Given the description of an element on the screen output the (x, y) to click on. 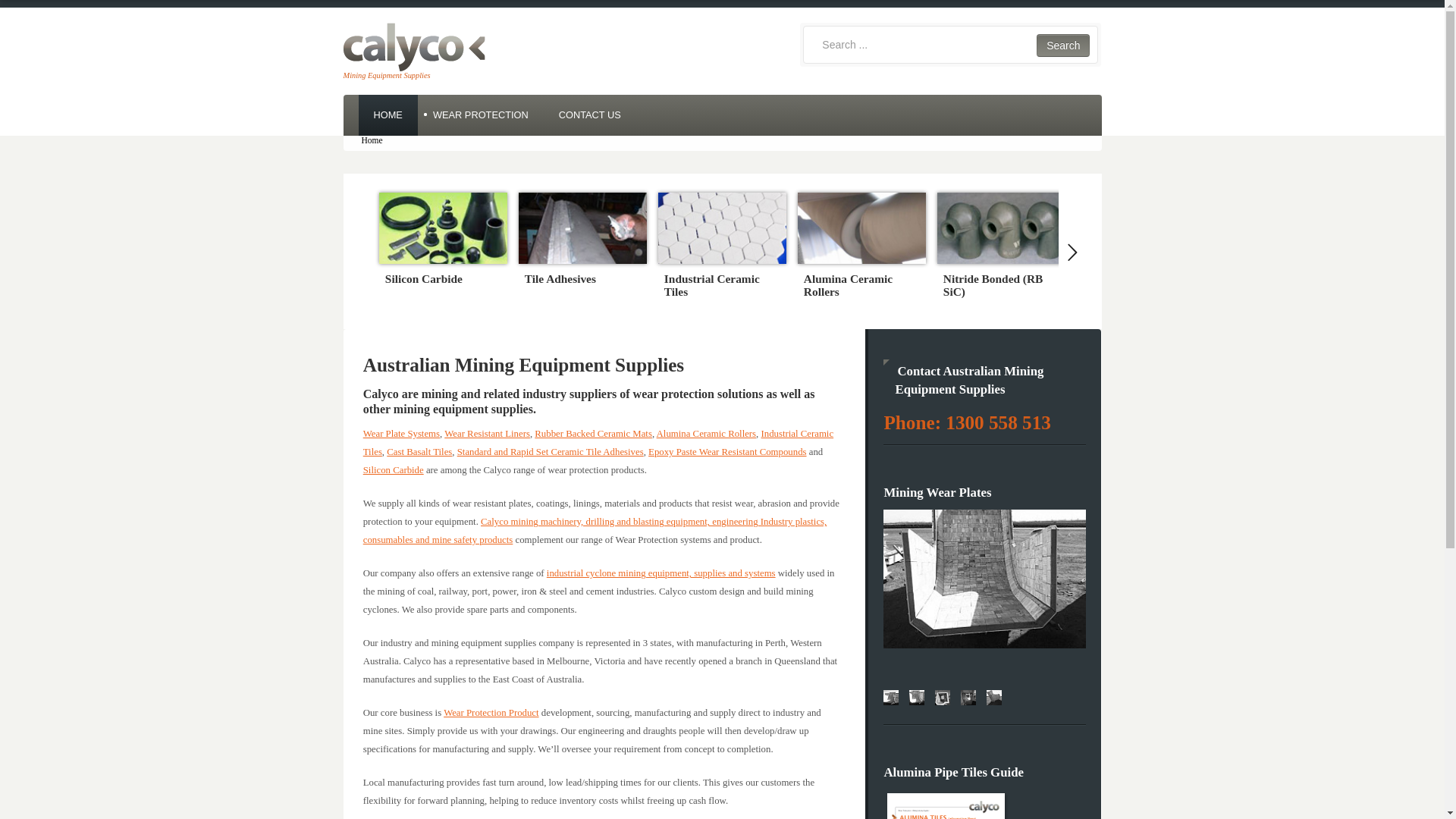
Alumina Ceramic Rollers Element type: text (859, 285)
Alumina Ceramic Rollers Element type: text (706, 433)
HOME Element type: text (387, 114)
Mining Wear Plates Element type: hover (967, 697)
Silicon Carbide Element type: text (393, 469)
Epoxy Paste Wear Resistant Compounds Element type: text (727, 451)
WEAR PROTECTION Element type: text (480, 114)
industrial cyclone mining equipment, supplies and systems Element type: text (660, 572)
Nitride Bonded (RB SiC) Element type: hover (1001, 227)
Wear Plate Systems Element type: text (401, 433)
Standard and Rapid Set Ceramic Tile Adhesives Element type: text (550, 451)
Cast Basalt Tiles Element type: text (418, 451)
Industrial Ceramic Tiles Element type: text (720, 285)
Silicon Carbide Element type: hover (443, 227)
Tile Adhesives Element type: hover (582, 227)
Mining Wear Plates Element type: hover (942, 697)
Rubber Backed Ceramic Mats Element type: text (593, 433)
Industrial Ceramic Tiles Element type: hover (722, 227)
Search Element type: text (1062, 45)
Alumina Ceramic Rollers Element type: hover (861, 227)
Mining Wear Plates Element type: hover (993, 697)
Industrial Ceramic Tiles Element type: text (598, 442)
Mining Wear Plates Element type: hover (890, 697)
Nitride Bonded (RB SiC) Element type: text (999, 285)
Tile Adhesives Element type: text (580, 279)
Wear Resistant Liners Element type: text (487, 433)
CONTACT US Element type: text (589, 114)
Wear Protection Product Element type: text (490, 712)
Silicon Carbide Element type: text (441, 279)
Mining Wear Plates Element type: hover (916, 697)
